Given the description of an element on the screen output the (x, y) to click on. 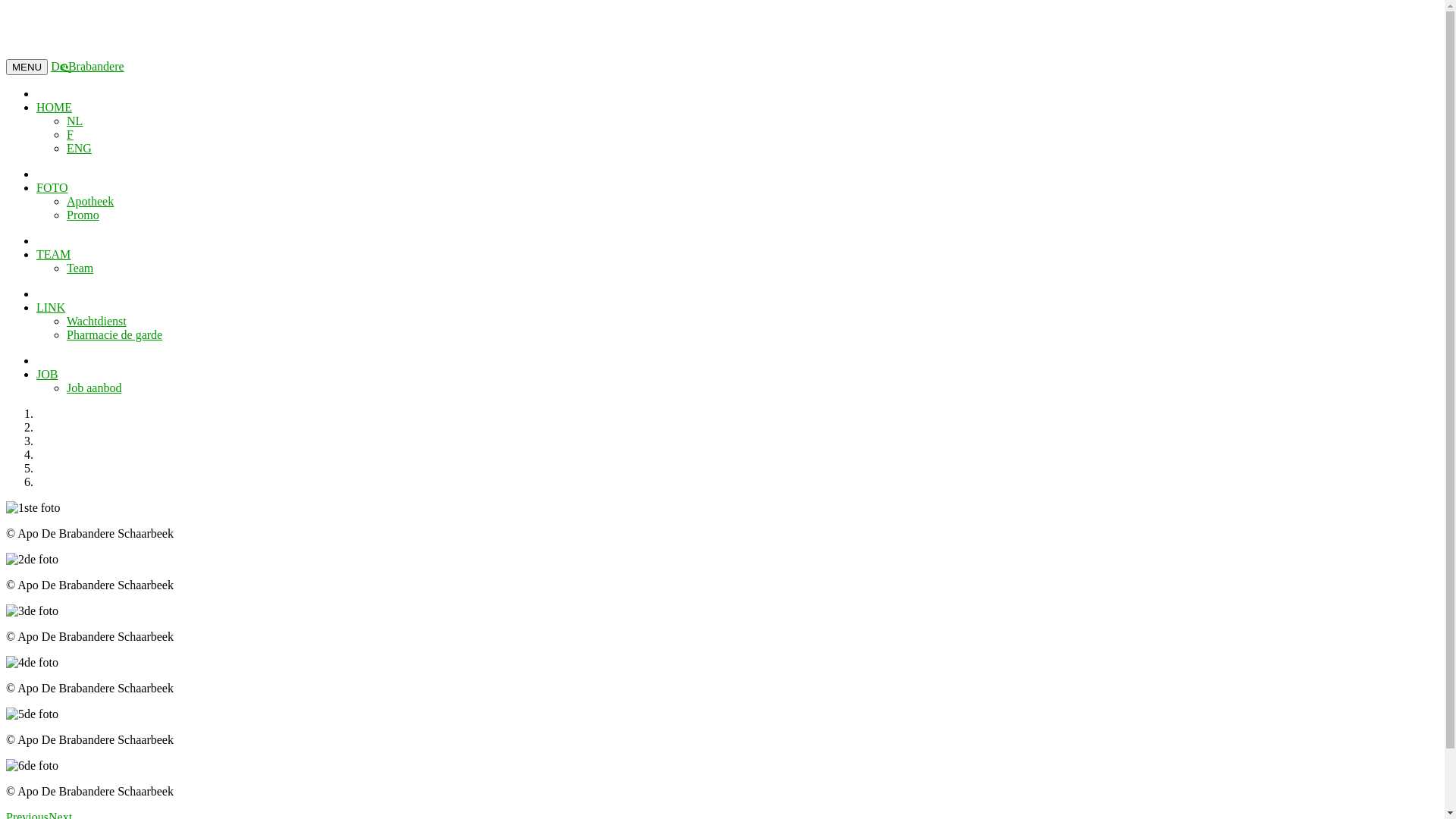
Wachtdienst Element type: text (96, 320)
NL Element type: text (74, 120)
HOME Element type: text (54, 106)
De Brabandere Element type: text (86, 65)
MENU Element type: text (26, 67)
JOB Element type: text (46, 373)
FOTO Element type: text (52, 187)
Promo Element type: text (82, 214)
Job aanbod Element type: text (93, 387)
ENG Element type: text (78, 147)
TEAM Element type: text (53, 253)
Team Element type: text (79, 267)
F Element type: text (69, 134)
Pharmacie de garde Element type: text (114, 334)
LINK Element type: text (50, 307)
Apotheek Element type: text (89, 200)
